Given the description of an element on the screen output the (x, y) to click on. 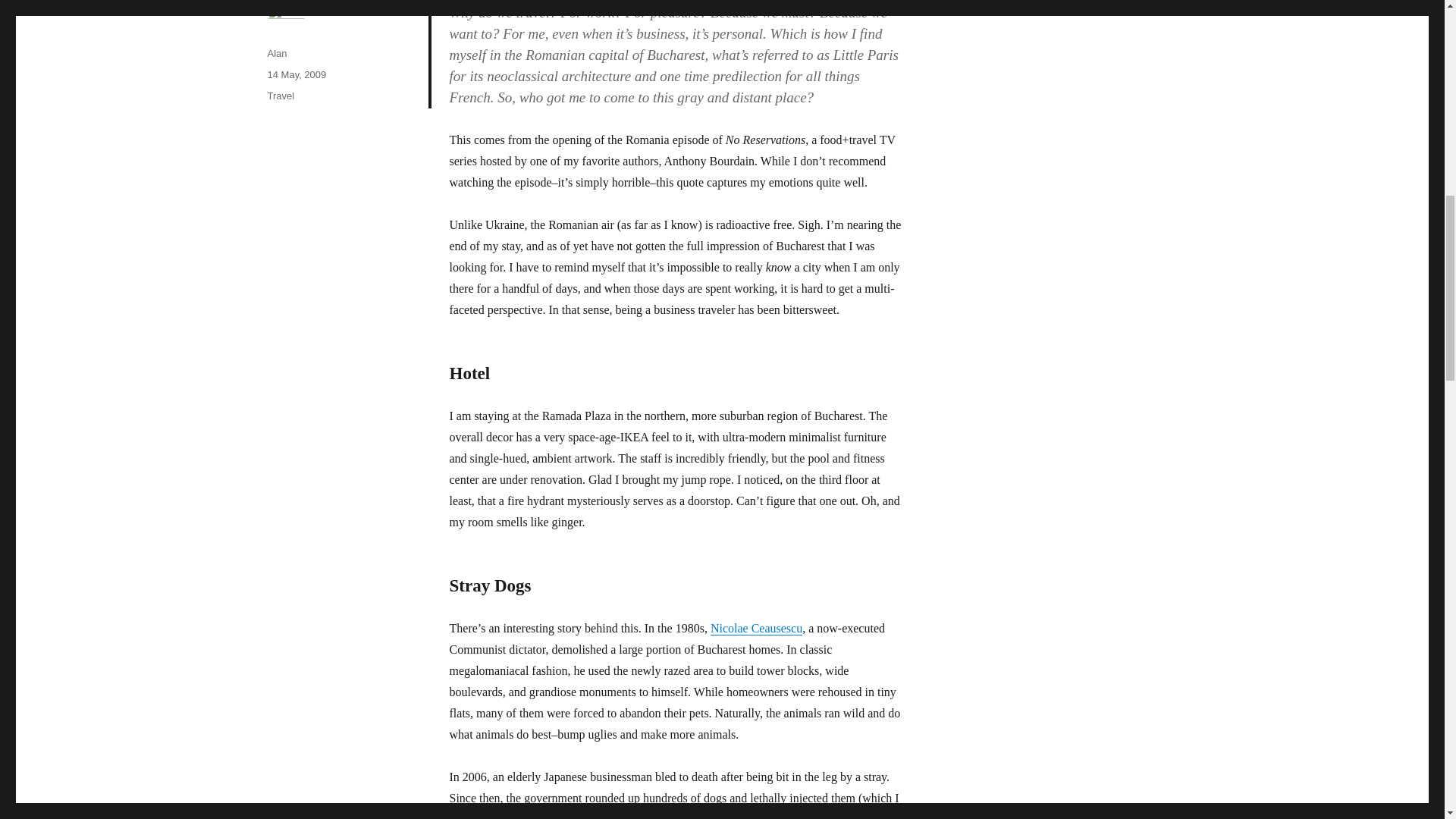
Travel (280, 95)
Nicolae Ceausescu (756, 627)
Alan (276, 52)
14 May, 2009 (296, 74)
